Given the description of an element on the screen output the (x, y) to click on. 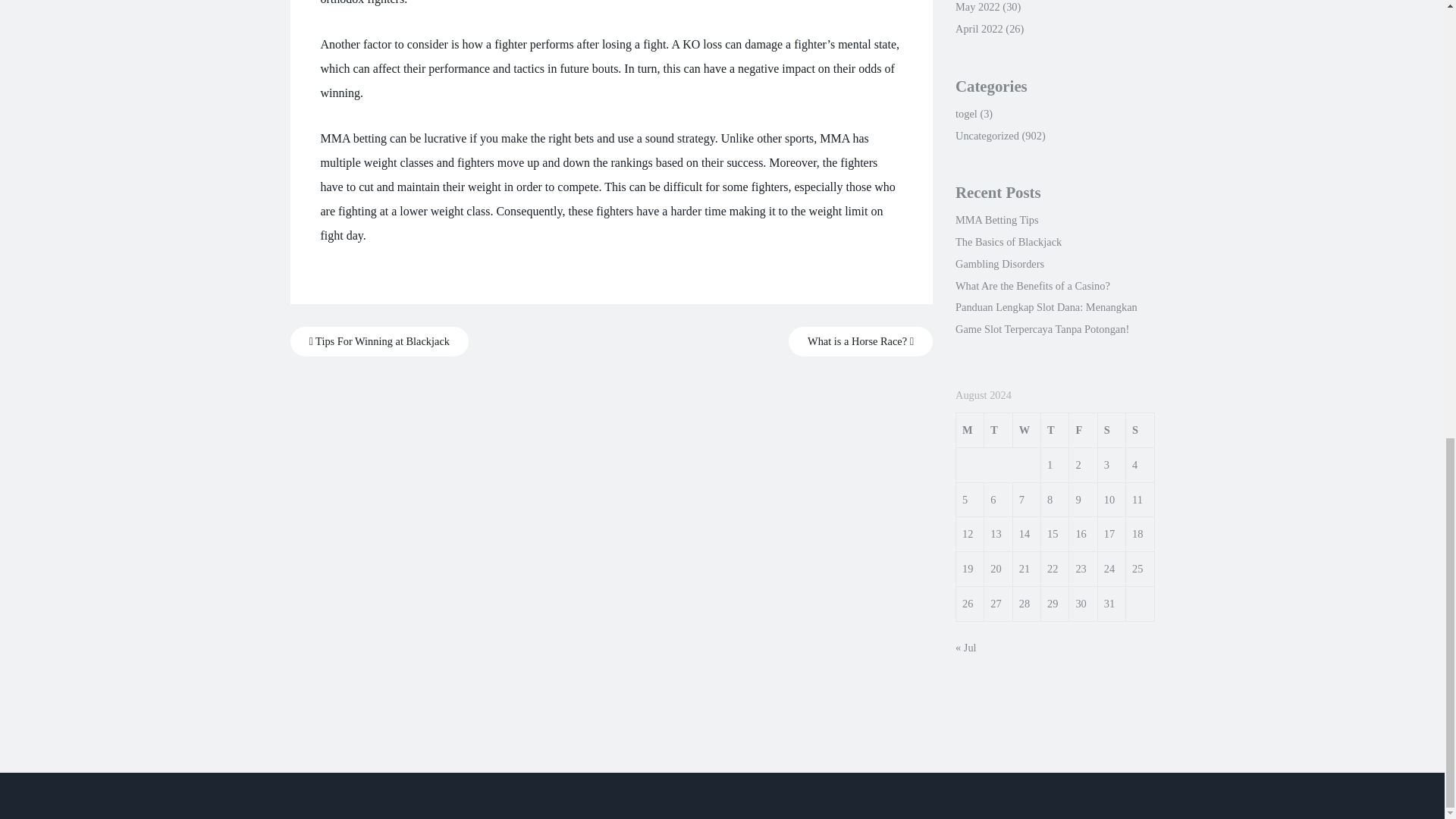
April 2022 (979, 28)
May 2022 (977, 6)
Tips For Winning at Blackjack (378, 341)
What is a Horse Race? (861, 341)
